Given the description of an element on the screen output the (x, y) to click on. 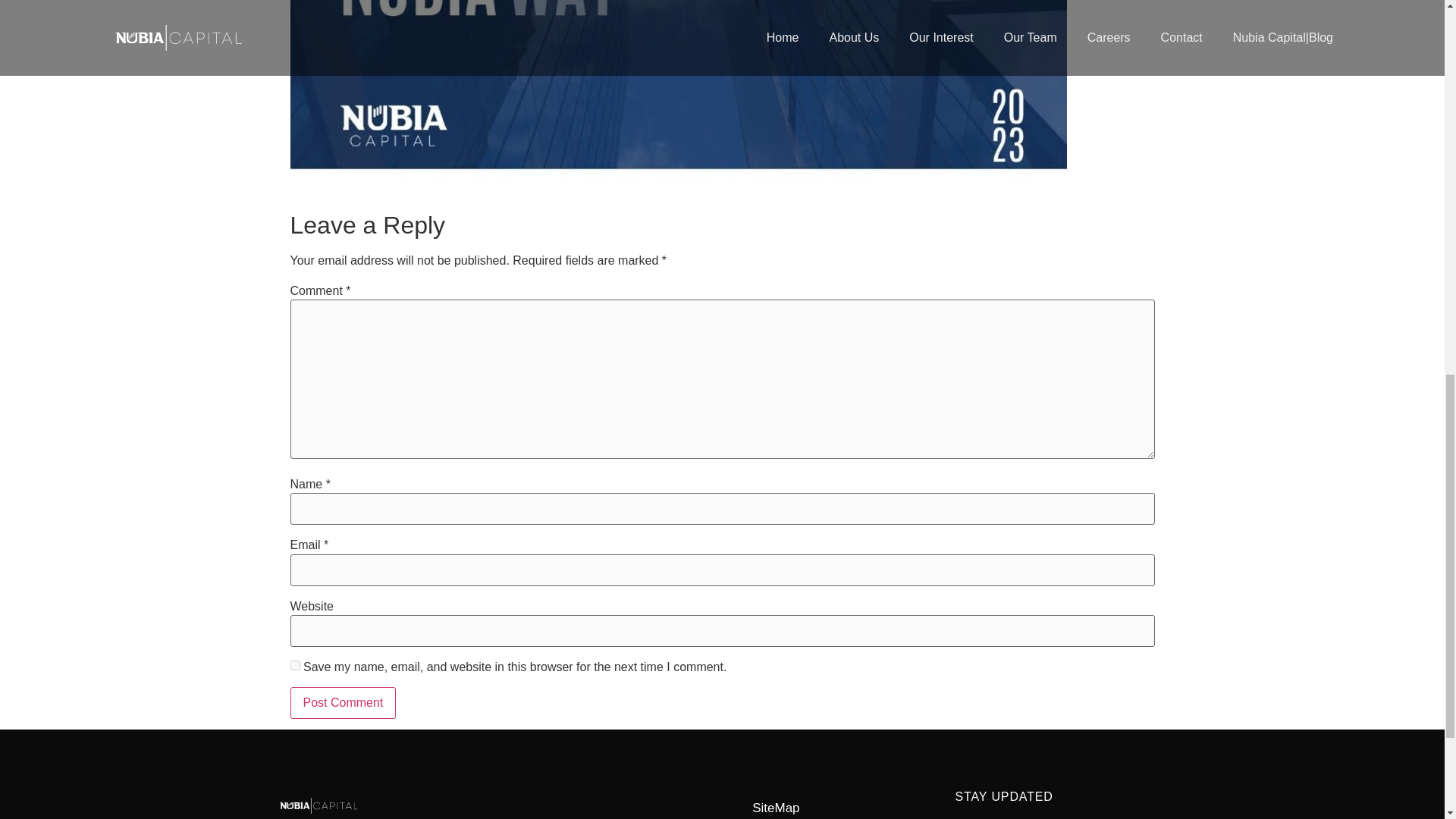
Post Comment (342, 703)
yes (294, 665)
Post Comment (342, 703)
